Given the description of an element on the screen output the (x, y) to click on. 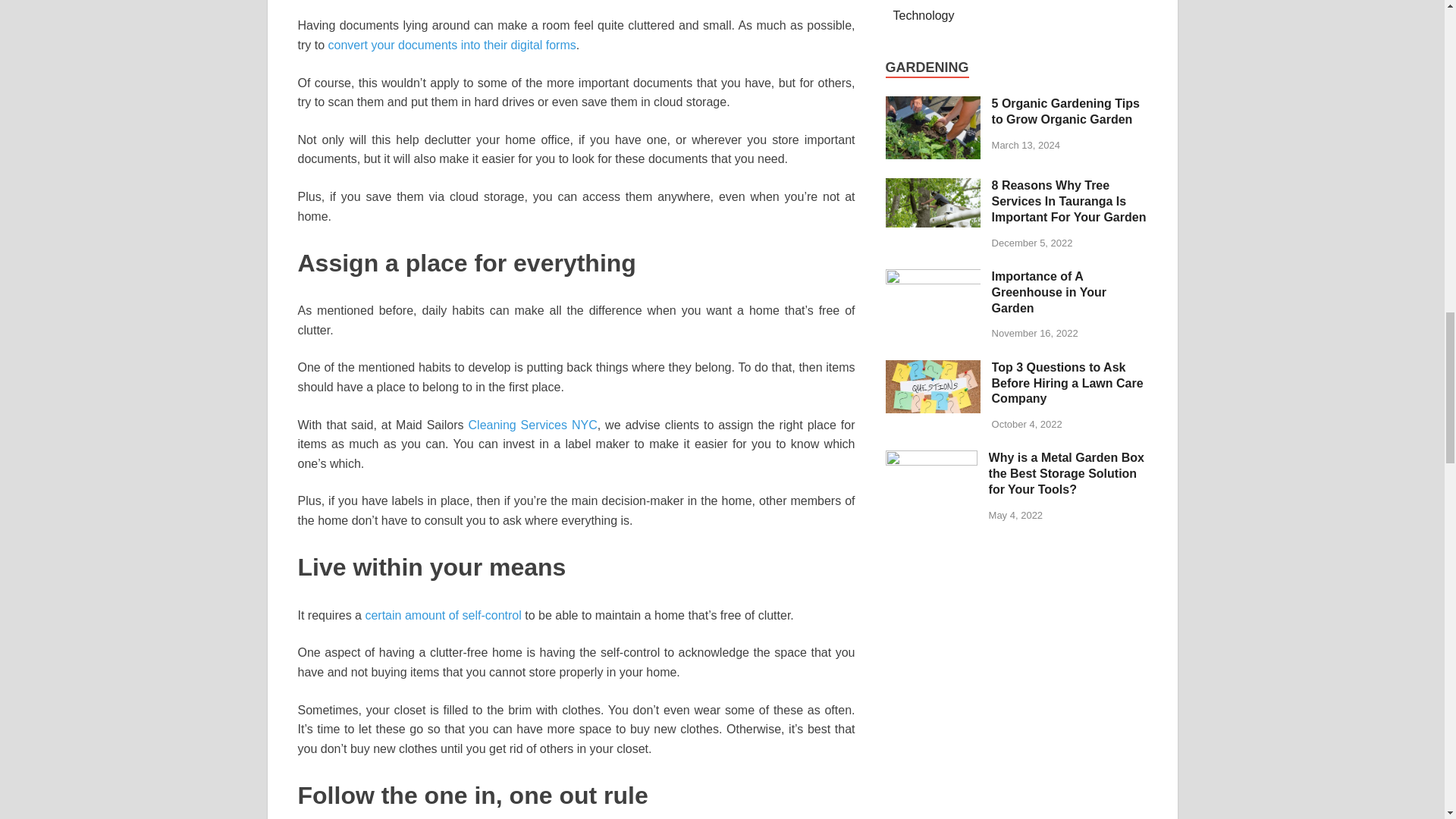
5 Organic Gardening Tips to Grow Organic Garden (932, 104)
